Given the description of an element on the screen output the (x, y) to click on. 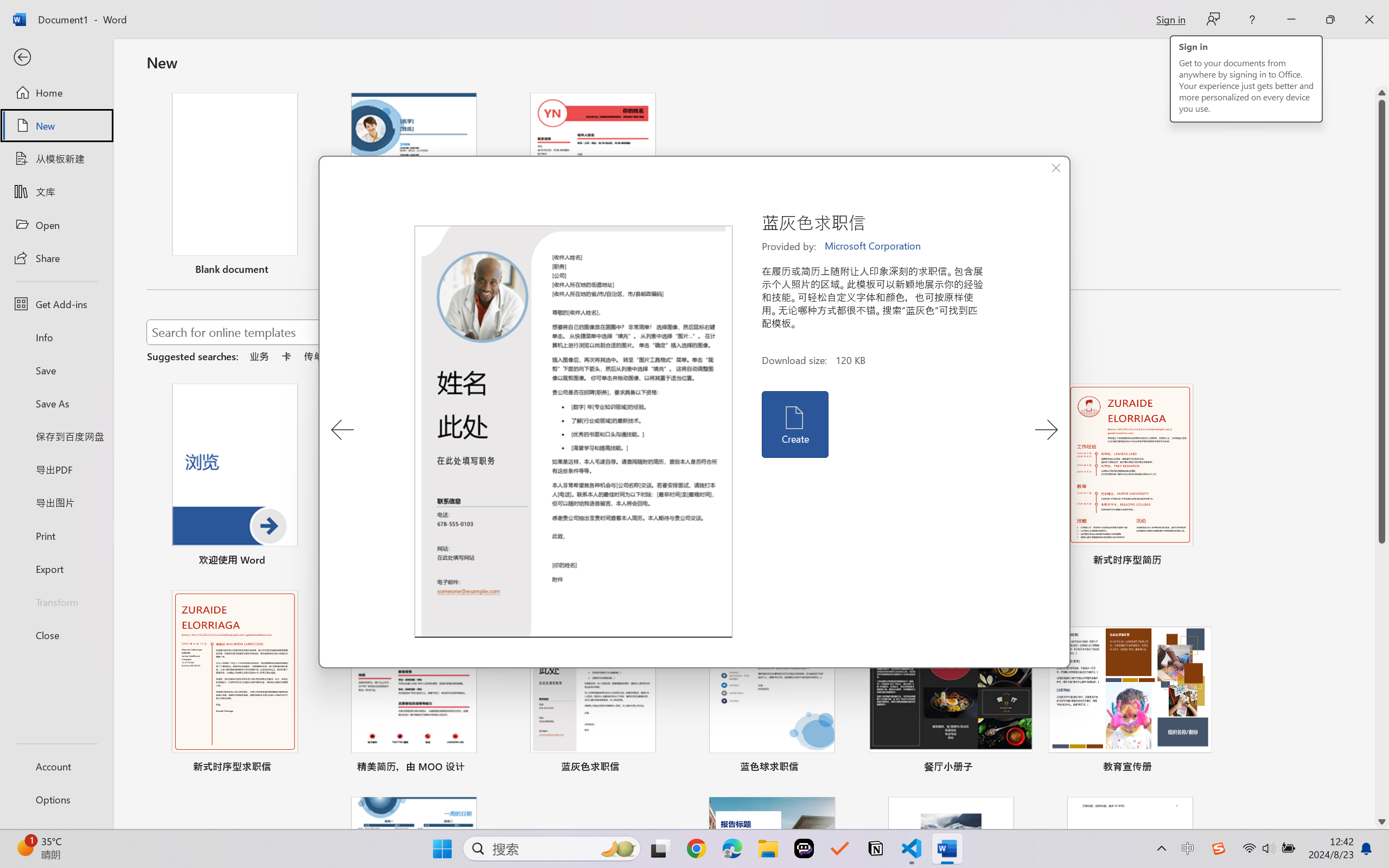
Unpin from list (664, 270)
Next Template (1046, 430)
Options (56, 798)
Pin to list (1200, 767)
